Given the description of an element on the screen output the (x, y) to click on. 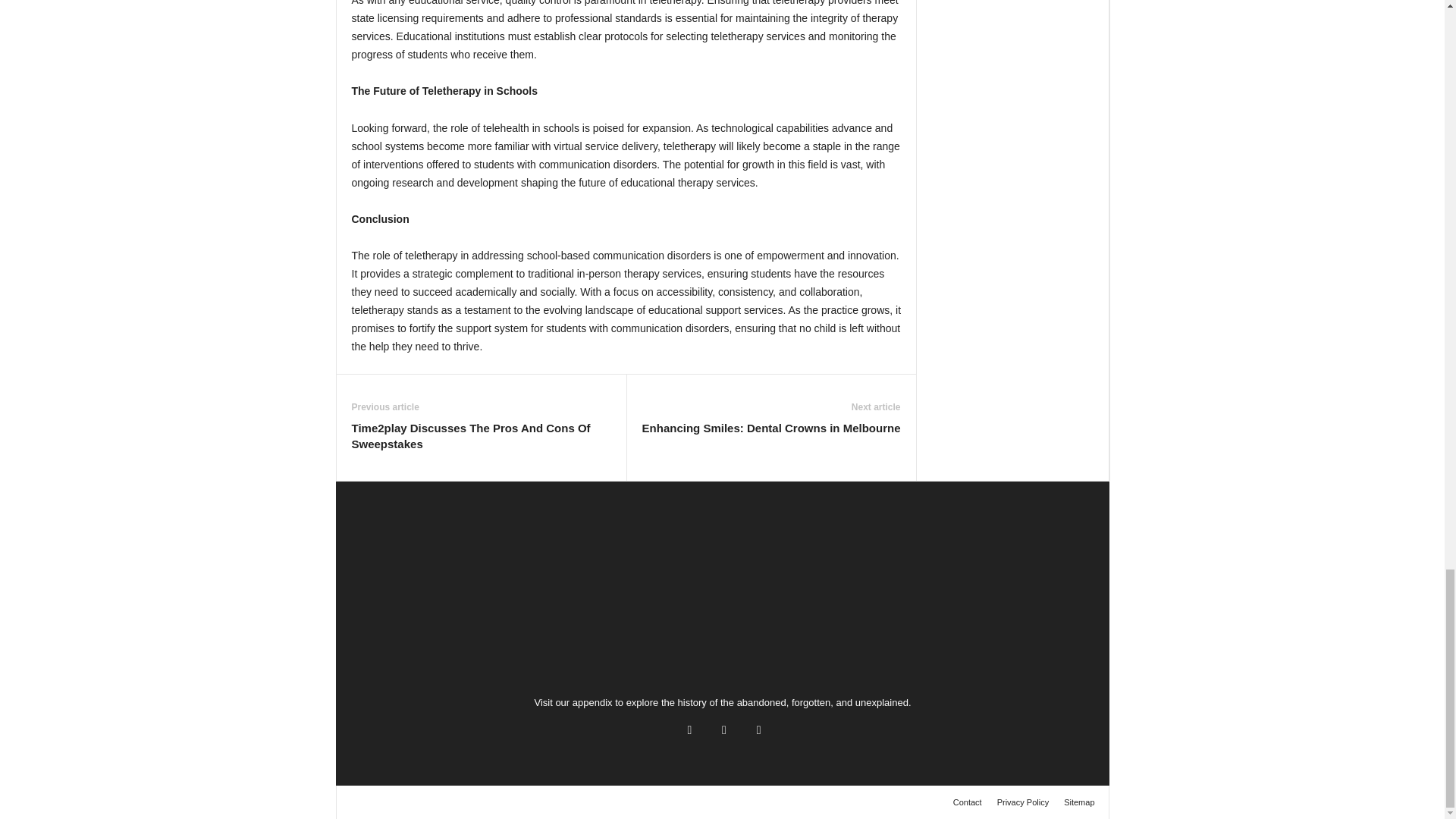
Youtube (757, 730)
Twitter (723, 730)
Facebook (688, 730)
